Given the description of an element on the screen output the (x, y) to click on. 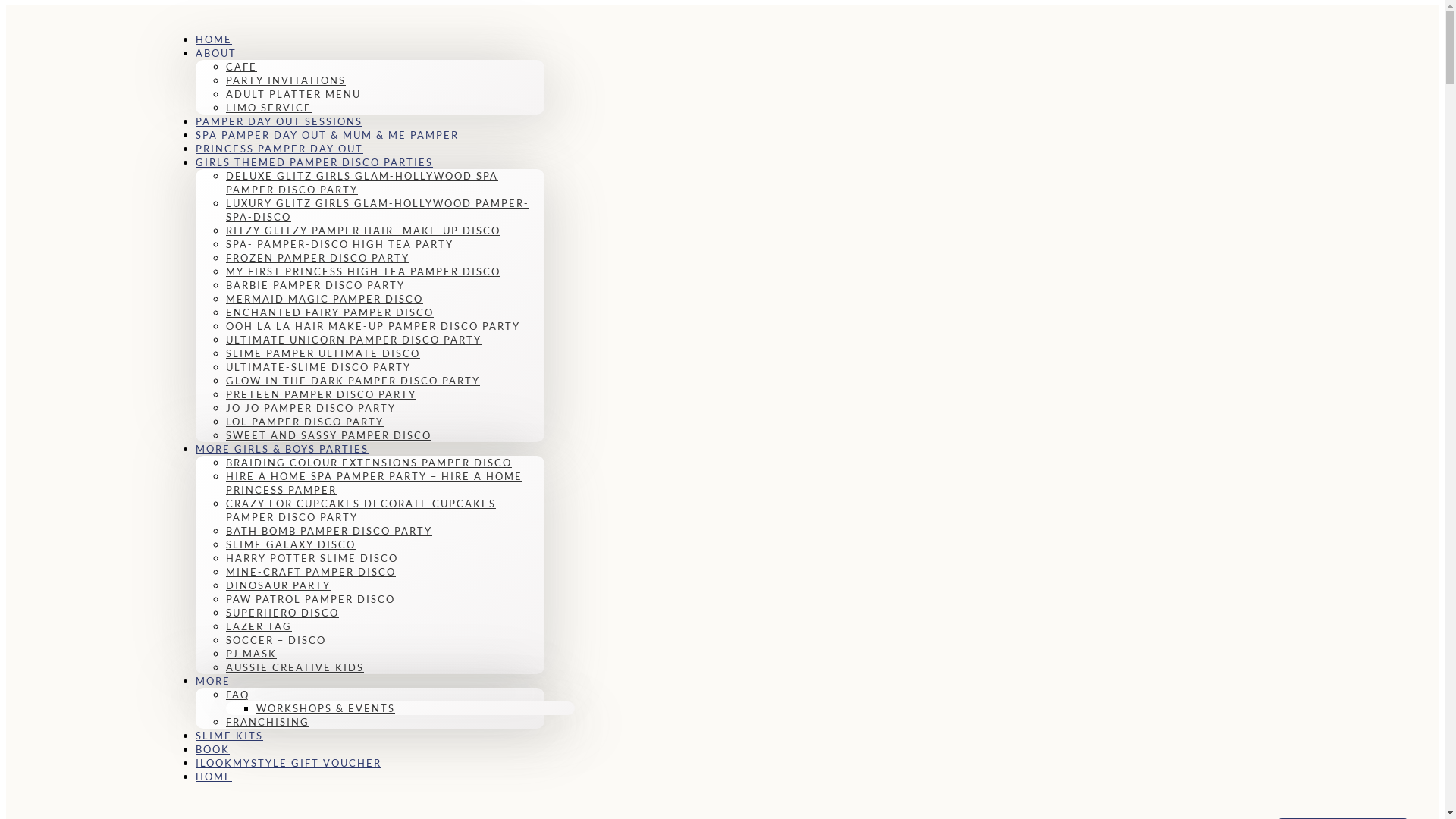
ABOUT Element type: text (215, 53)
LUXURY GLITZ GIRLS GLAM-HOLLYWOOD PAMPER-SPA-DISCO Element type: text (377, 209)
SLIME KITS Element type: text (229, 735)
HOME Element type: text (213, 39)
ADULT PLATTER MENU Element type: text (292, 93)
ULTIMATE UNICORN PAMPER DISCO PARTY Element type: text (353, 339)
SWEET AND SASSY PAMPER DISCO Element type: text (328, 435)
SLIME GALAXY DISCO Element type: text (290, 544)
BRAIDING COLOUR EXTENSIONS PAMPER DISCO Element type: text (368, 462)
BARBIE PAMPER DISCO PARTY Element type: text (314, 285)
SPA- PAMPER-DISCO HIGH TEA PARTY Element type: text (339, 244)
RITZY GLITZY PAMPER HAIR- MAKE-UP DISCO Element type: text (362, 230)
FRANCHISING Element type: text (267, 721)
GLOW IN THE DARK PAMPER DISCO PARTY Element type: text (352, 380)
MINE-CRAFT PAMPER DISCO Element type: text (310, 571)
FROZEN PAMPER DISCO PARTY Element type: text (317, 257)
BOOK Element type: text (212, 749)
OOH LA LA HAIR MAKE-UP PAMPER DISCO PARTY Element type: text (372, 326)
BATH BOMB PAMPER DISCO PARTY Element type: text (328, 530)
HARRY POTTER SLIME DISCO Element type: text (311, 558)
MORE GIRLS & BOYS PARTIES Element type: text (281, 448)
HOME Element type: text (213, 776)
PRETEEN PAMPER DISCO PARTY Element type: text (320, 394)
PRINCESS PAMPER DAY OUT Element type: text (279, 148)
ULTIMATE-SLIME DISCO PARTY Element type: text (318, 366)
GIRLS THEMED PAMPER DISCO PARTIES Element type: text (314, 162)
PAW PATROL PAMPER DISCO Element type: text (310, 599)
PARTY INVITATIONS Element type: text (285, 80)
ILOOKMYSTYLE GIFT VOUCHER Element type: text (288, 762)
DINOSAUR PARTY Element type: text (277, 585)
CRAZY FOR CUPCAKES DECORATE CUPCAKES PAMPER DISCO PARTY Element type: text (360, 510)
LAZER TAG Element type: text (258, 626)
SLIME PAMPER ULTIMATE DISCO Element type: text (322, 353)
LOL PAMPER DISCO PARTY Element type: text (304, 421)
WORKSHOPS & EVENTS Element type: text (325, 708)
FAQ Element type: text (237, 694)
MY FIRST PRINCESS HIGH TEA PAMPER DISCO Element type: text (362, 271)
MORE Element type: text (212, 680)
ENCHANTED FAIRY PAMPER DISCO Element type: text (329, 312)
JO JO PAMPER DISCO PARTY Element type: text (310, 407)
AUSSIE CREATIVE KIDS Element type: text (294, 667)
MERMAID MAGIC PAMPER DISCO Element type: text (324, 298)
PJ MASK Element type: text (250, 653)
CAFE Element type: text (241, 66)
SPA PAMPER DAY OUT & MUM & ME PAMPER Element type: text (326, 134)
SUPERHERO DISCO Element type: text (281, 612)
PAMPER DAY OUT SESSIONS Element type: text (278, 121)
LIMO SERVICE Element type: text (268, 107)
DELUXE GLITZ GIRLS GLAM-HOLLYWOOD SPA PAMPER DISCO PARTY Element type: text (361, 182)
